Given the description of an element on the screen output the (x, y) to click on. 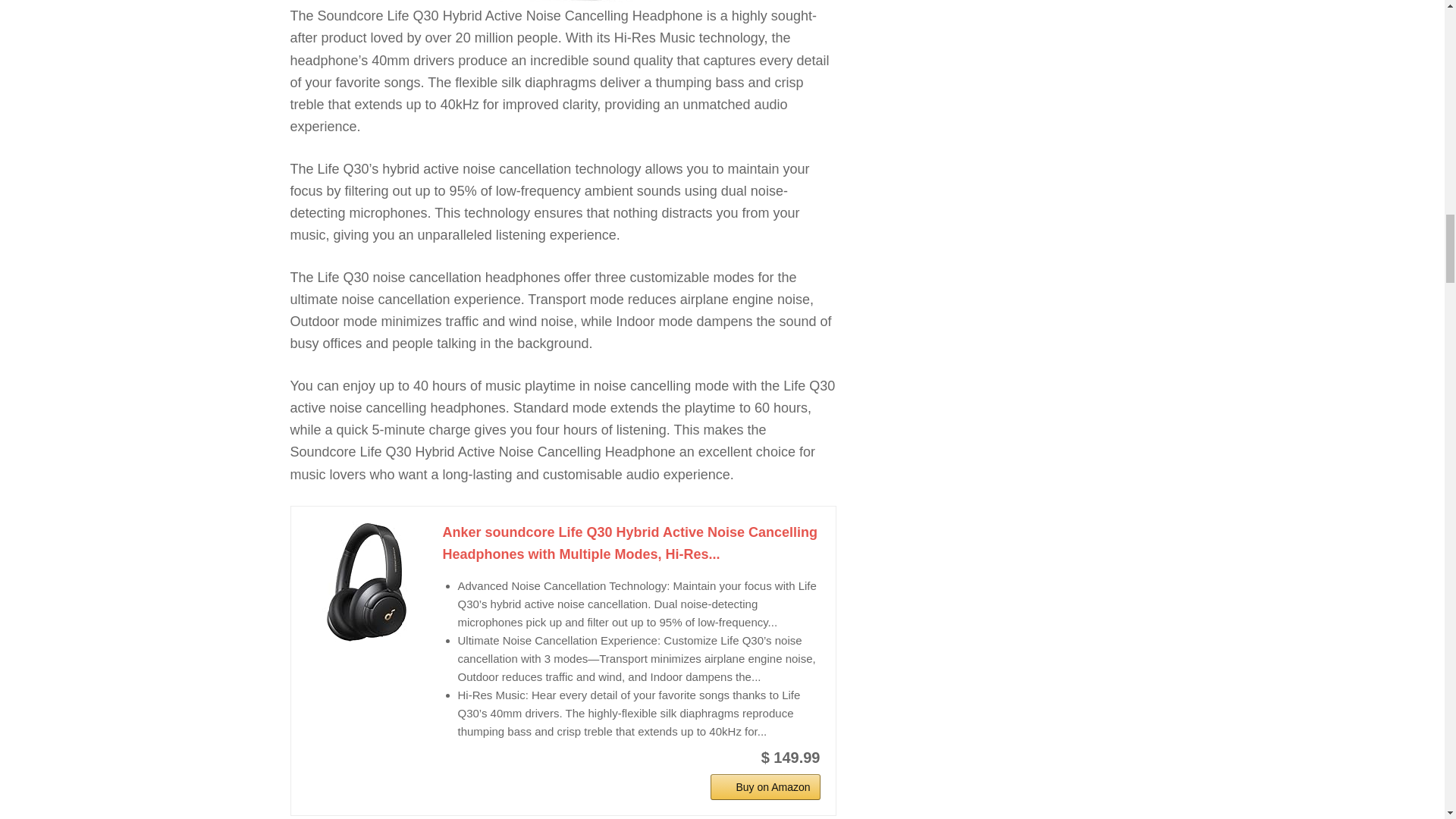
Buy on Amazon (764, 786)
Buy on Amazon (764, 786)
